Given the description of an element on the screen output the (x, y) to click on. 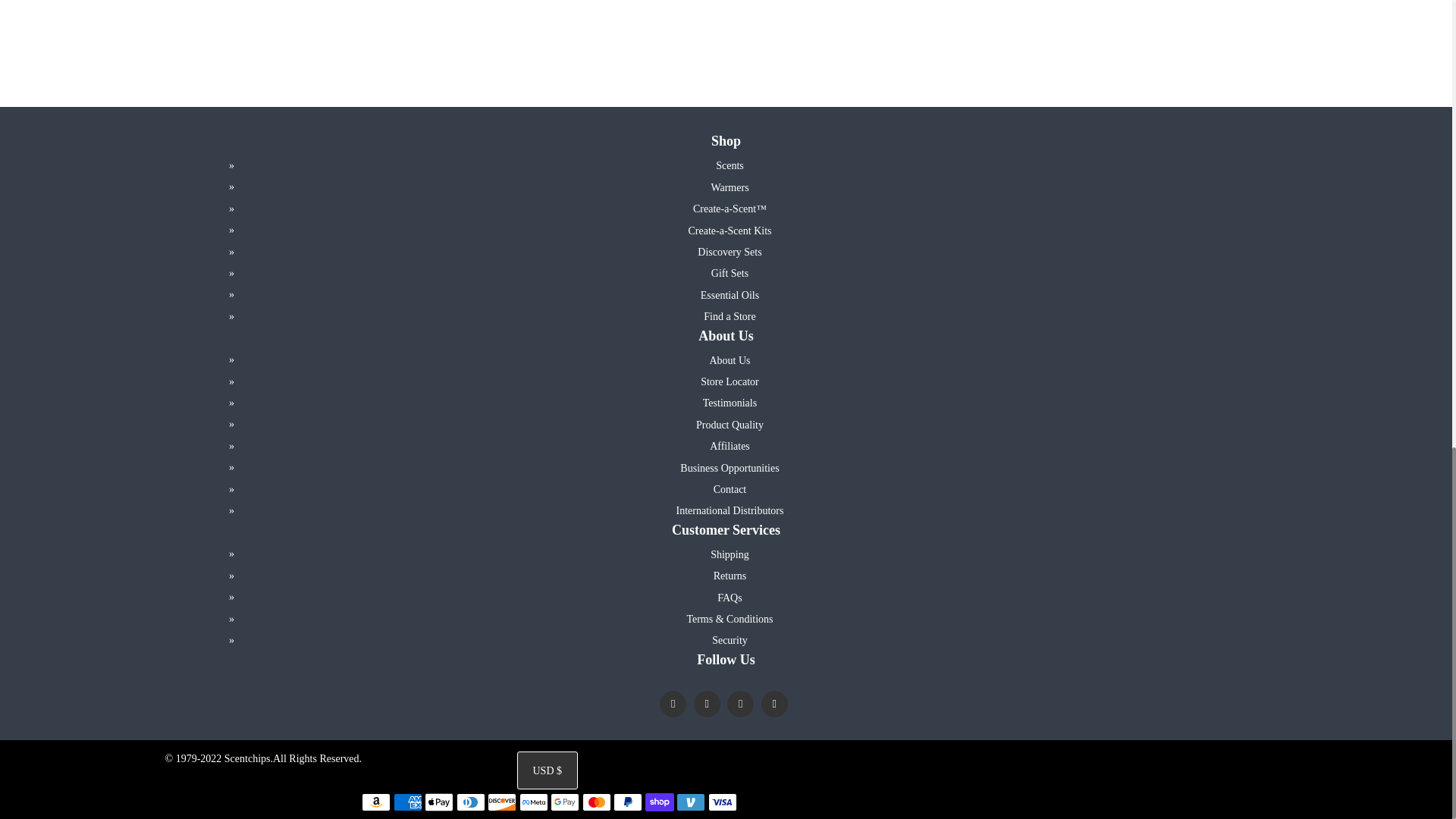
Shop Pay (659, 802)
Diners Club (470, 802)
Discover (501, 802)
Visa (721, 802)
Google Pay (564, 802)
Meta Pay (533, 802)
Mastercard (596, 802)
PayPal (627, 802)
Apple Pay (438, 802)
American Express (407, 802)
